Given the description of an element on the screen output the (x, y) to click on. 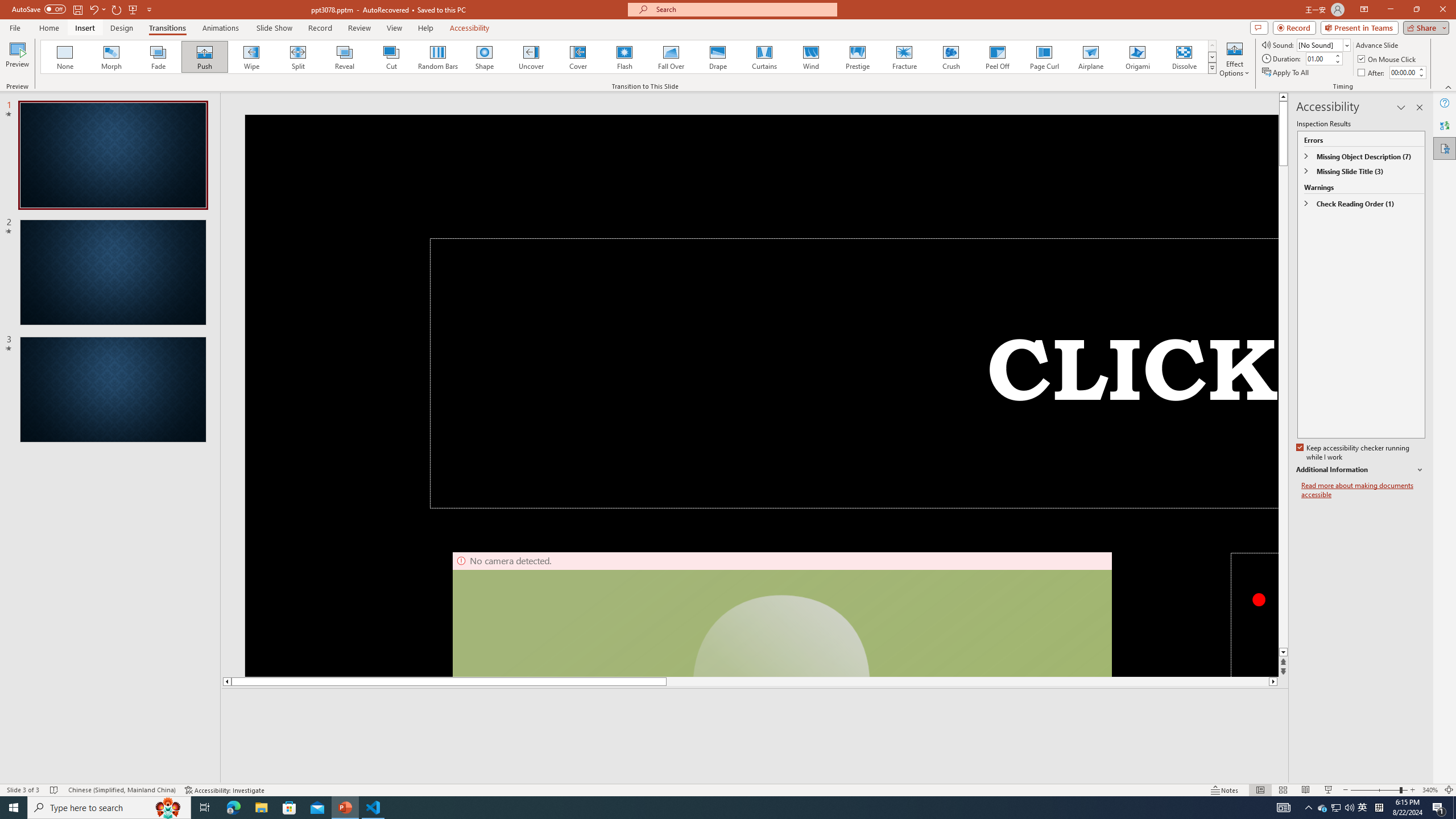
Slide Notes (755, 705)
Drape (717, 56)
Cover (577, 56)
Random Bars (437, 56)
Zoom 340% (1430, 790)
Fall Over (670, 56)
Keep accessibility checker running while I work (1353, 452)
